Given the description of an element on the screen output the (x, y) to click on. 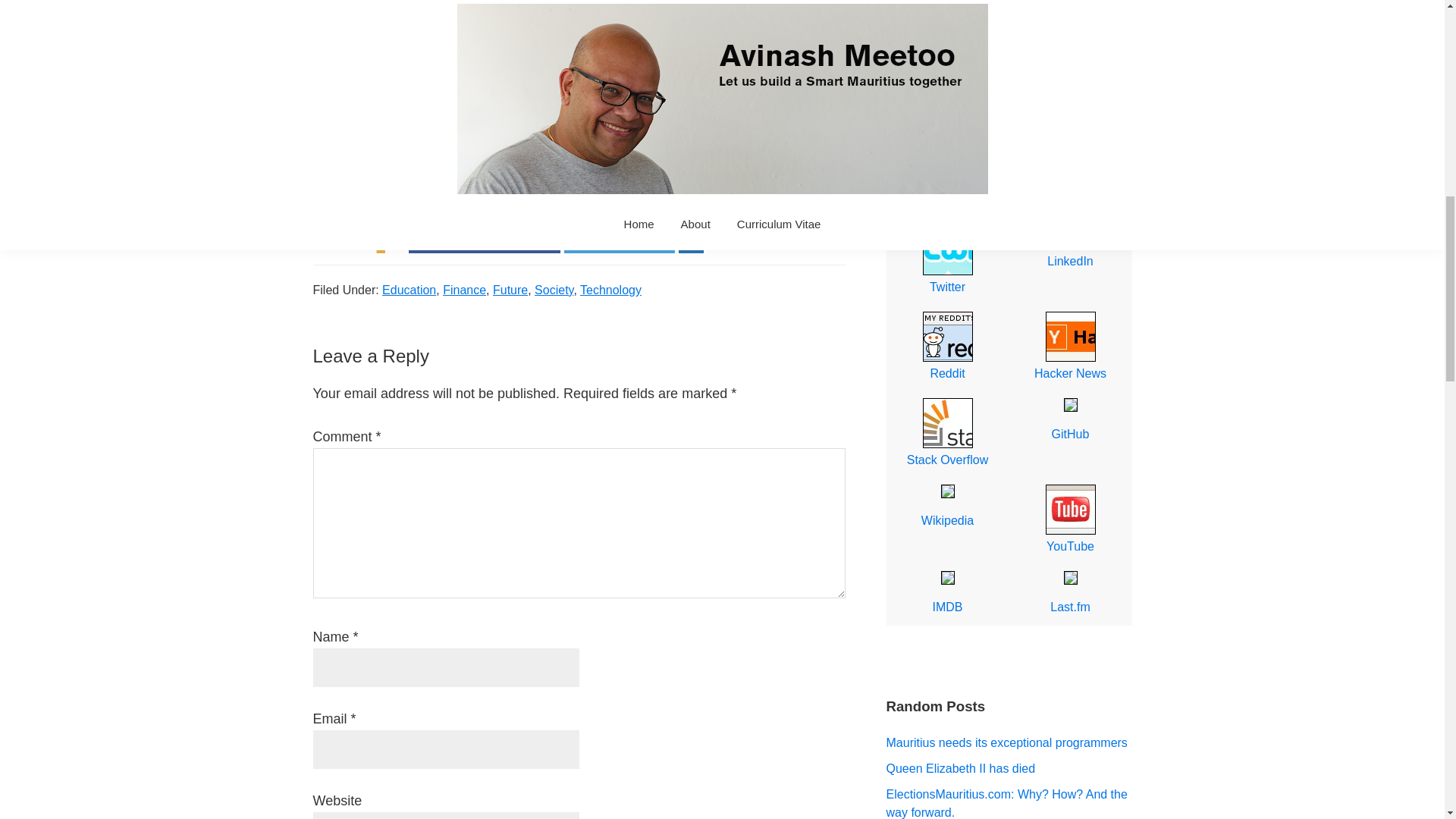
Future (510, 289)
LinkedIn (1069, 249)
Technology (610, 289)
FB Page (1069, 175)
GitHub (1069, 422)
Twitter (947, 262)
Share this on Facebook (484, 225)
Facebook (947, 175)
